Given the description of an element on the screen output the (x, y) to click on. 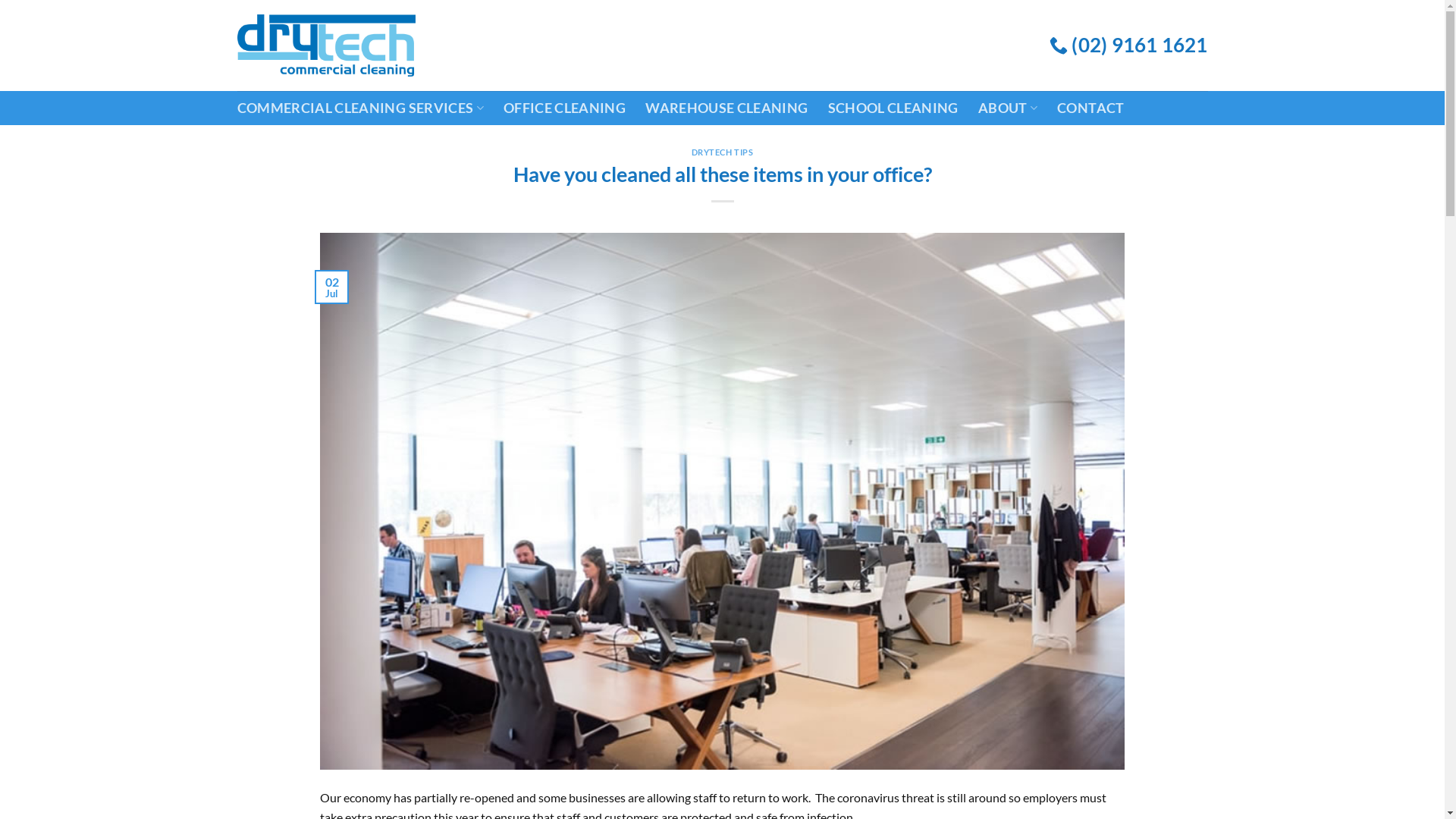
COMMERCIAL CLEANING SERVICES Element type: text (359, 107)
WAREHOUSE CLEANING Element type: text (726, 107)
DRYTECH TIPS Element type: text (722, 151)
(02) 9161 1621 Element type: text (1128, 45)
CONTACT Element type: text (1090, 107)
ABOUT Element type: text (1007, 107)
Skip to content Element type: text (0, 0)
SCHOOL CLEANING Element type: text (893, 107)
OFFICE CLEANING Element type: text (564, 107)
Drytech Commercial Cleaning Element type: hover (325, 45)
